Given the description of an element on the screen output the (x, y) to click on. 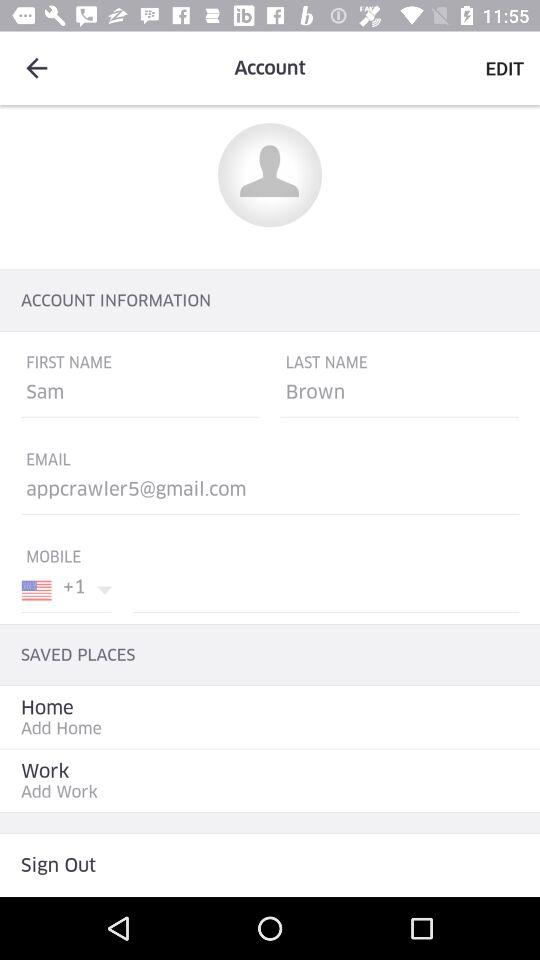
click on edit option (504, 68)
click on the option below last name (399, 395)
click on sam (140, 395)
